Given the description of an element on the screen output the (x, y) to click on. 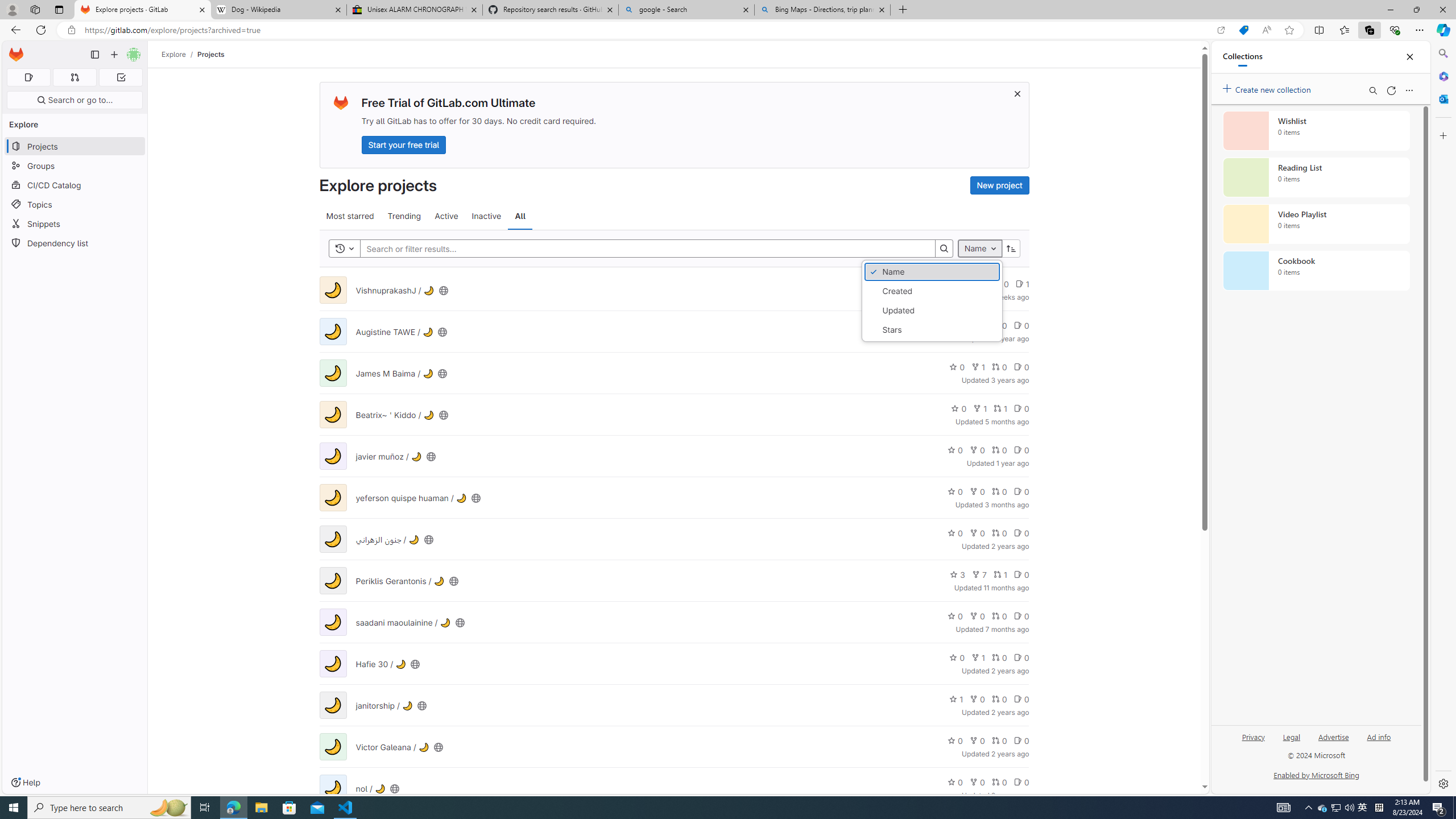
Class: s16 (395, 788)
0 (1021, 781)
Start your free trial (403, 144)
Name (979, 248)
New project (999, 185)
Name (931, 271)
Class: s16 gl-icon gl-button-icon  (1016, 93)
